Given the description of an element on the screen output the (x, y) to click on. 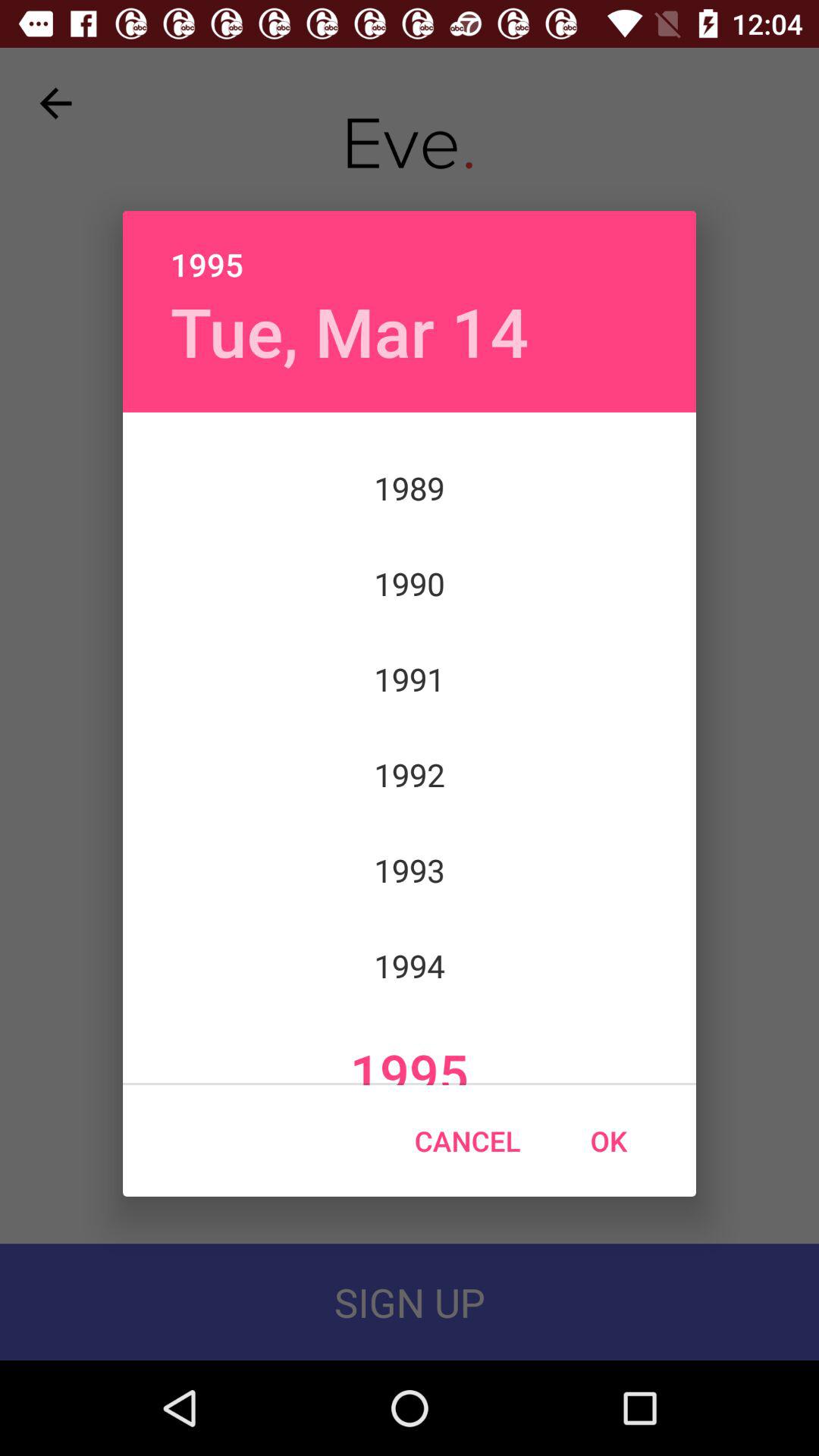
flip to the cancel item (467, 1140)
